Given the description of an element on the screen output the (x, y) to click on. 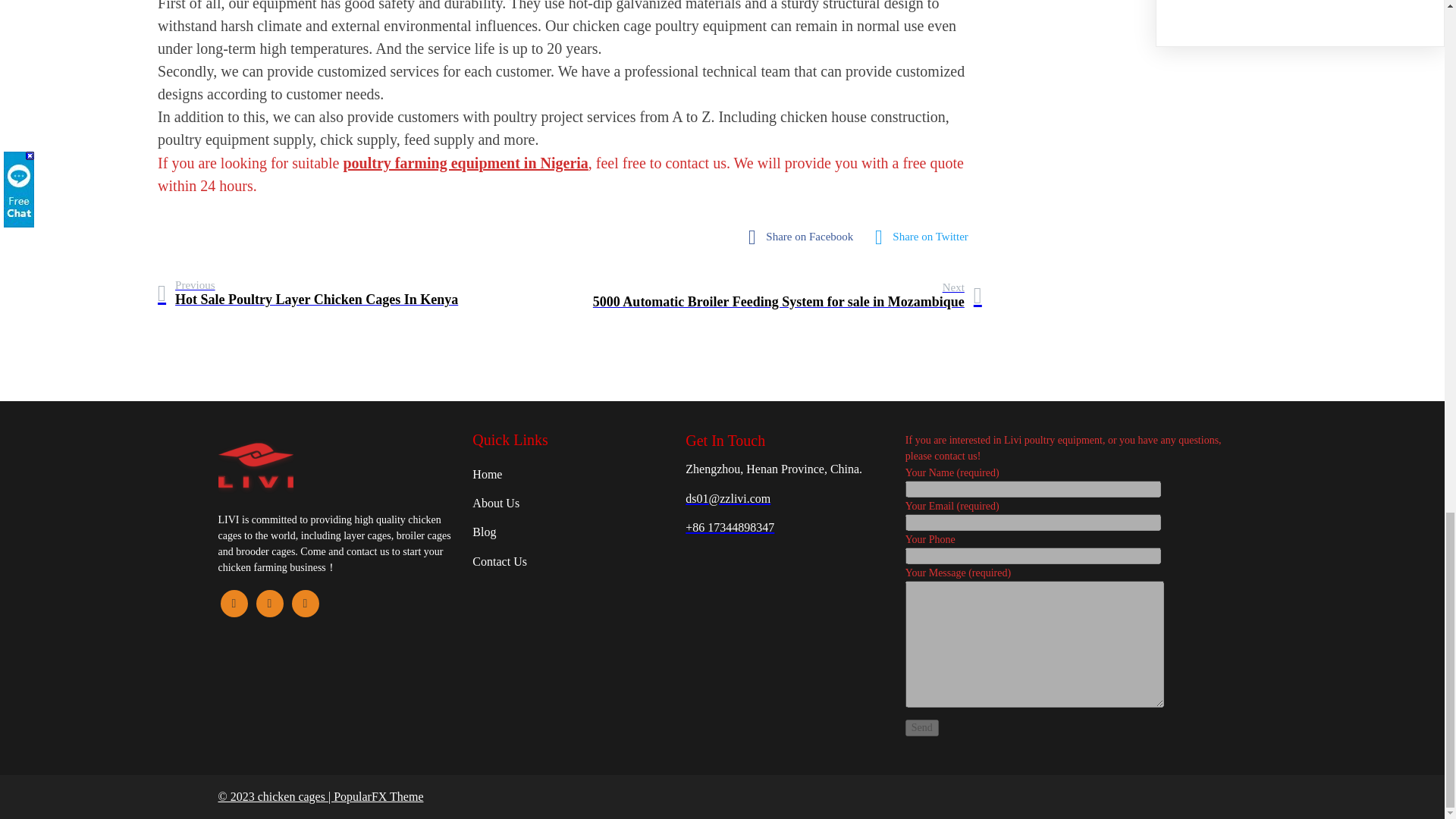
poultry farming equipment in Nigeria (465, 162)
logo (256, 465)
Send (922, 727)
Share on Twitter (925, 237)
fab fa-facebook-square (804, 237)
Share on Facebook (307, 293)
fab fa-twitter-square (804, 237)
